Given the description of an element on the screen output the (x, y) to click on. 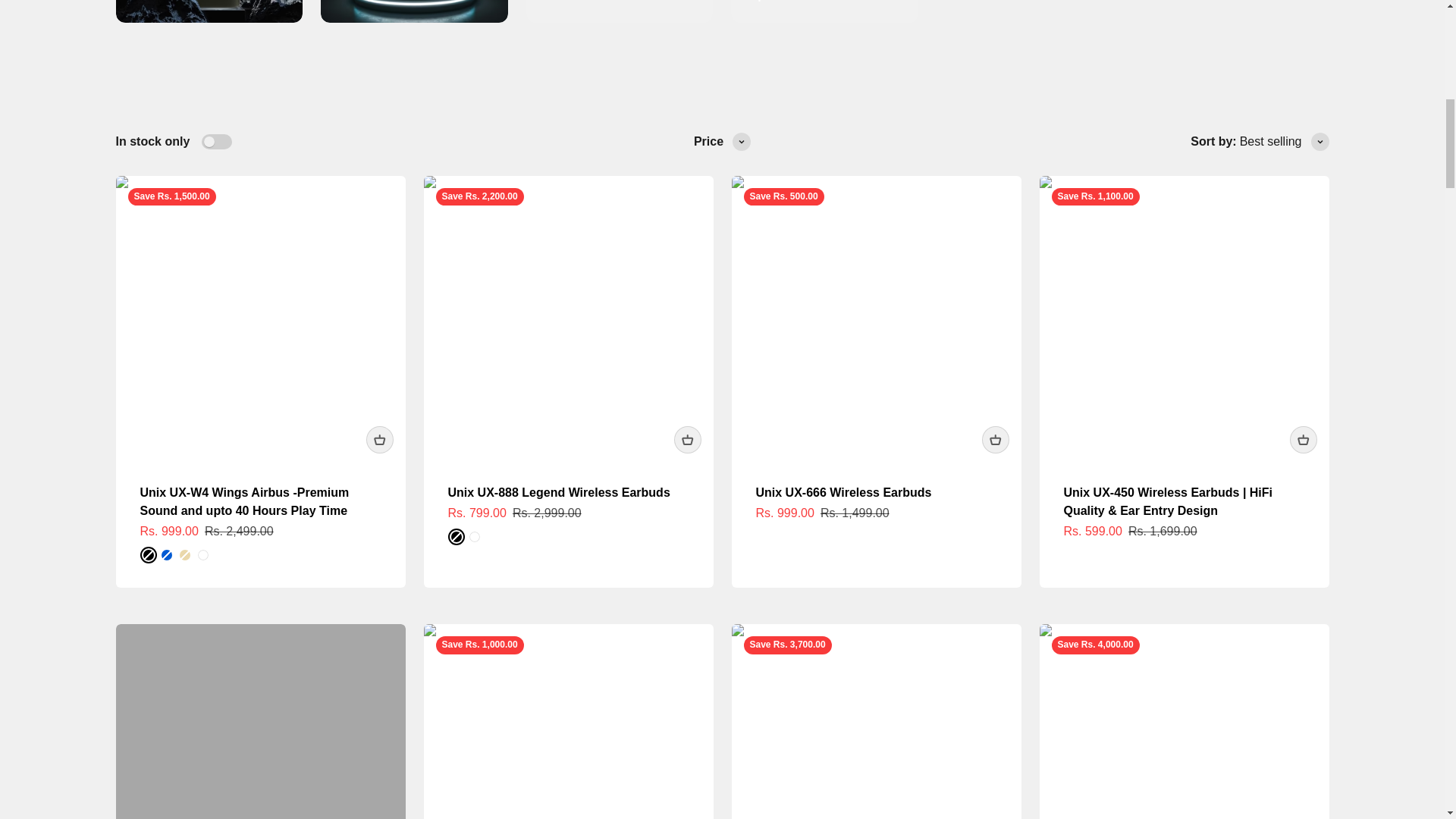
1 (216, 141)
White (721, 11)
